Given the description of an element on the screen output the (x, y) to click on. 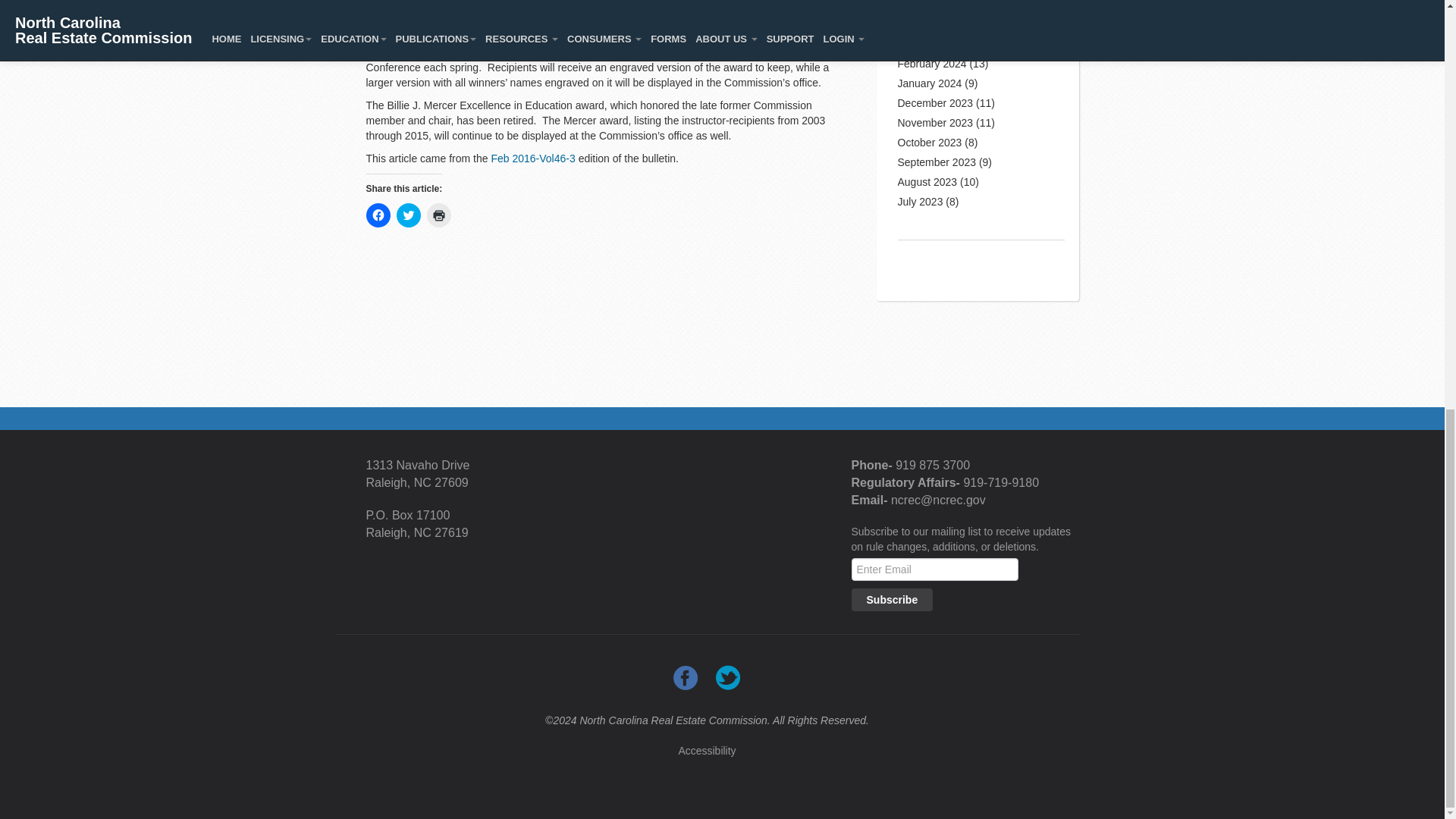
Click to share on Facebook (377, 215)
Click to share on Twitter (408, 215)
Subscribe (891, 599)
Click to print (437, 215)
